Given the description of an element on the screen output the (x, y) to click on. 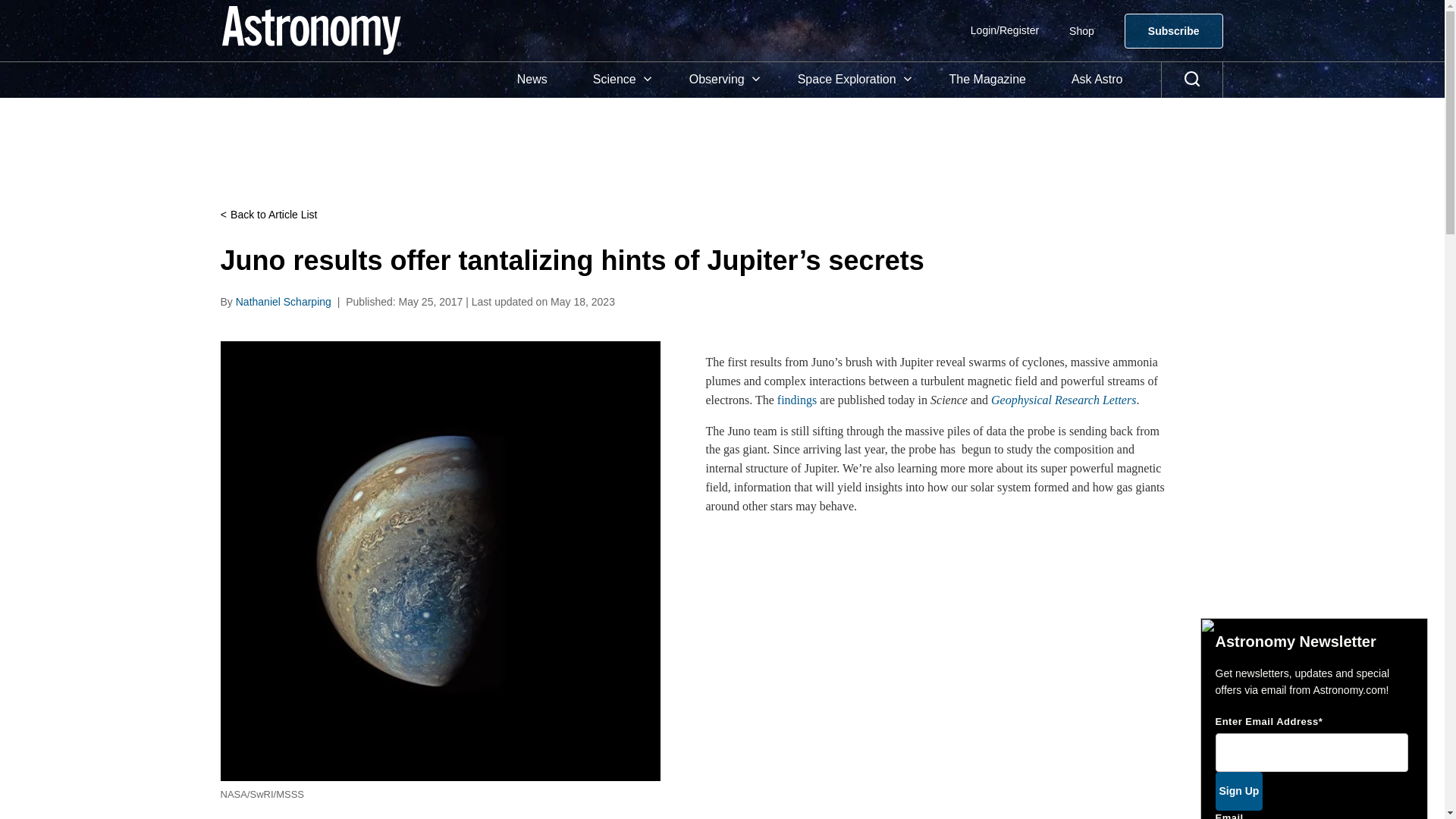
Shop (1081, 30)
News (532, 79)
Space Exploration (850, 79)
Observing (720, 79)
Ask Astro (1096, 79)
Subscribe (1173, 30)
Science (618, 79)
Search (1192, 79)
The Magazine (987, 79)
Posts by Nathaniel Scharping (283, 301)
